Given the description of an element on the screen output the (x, y) to click on. 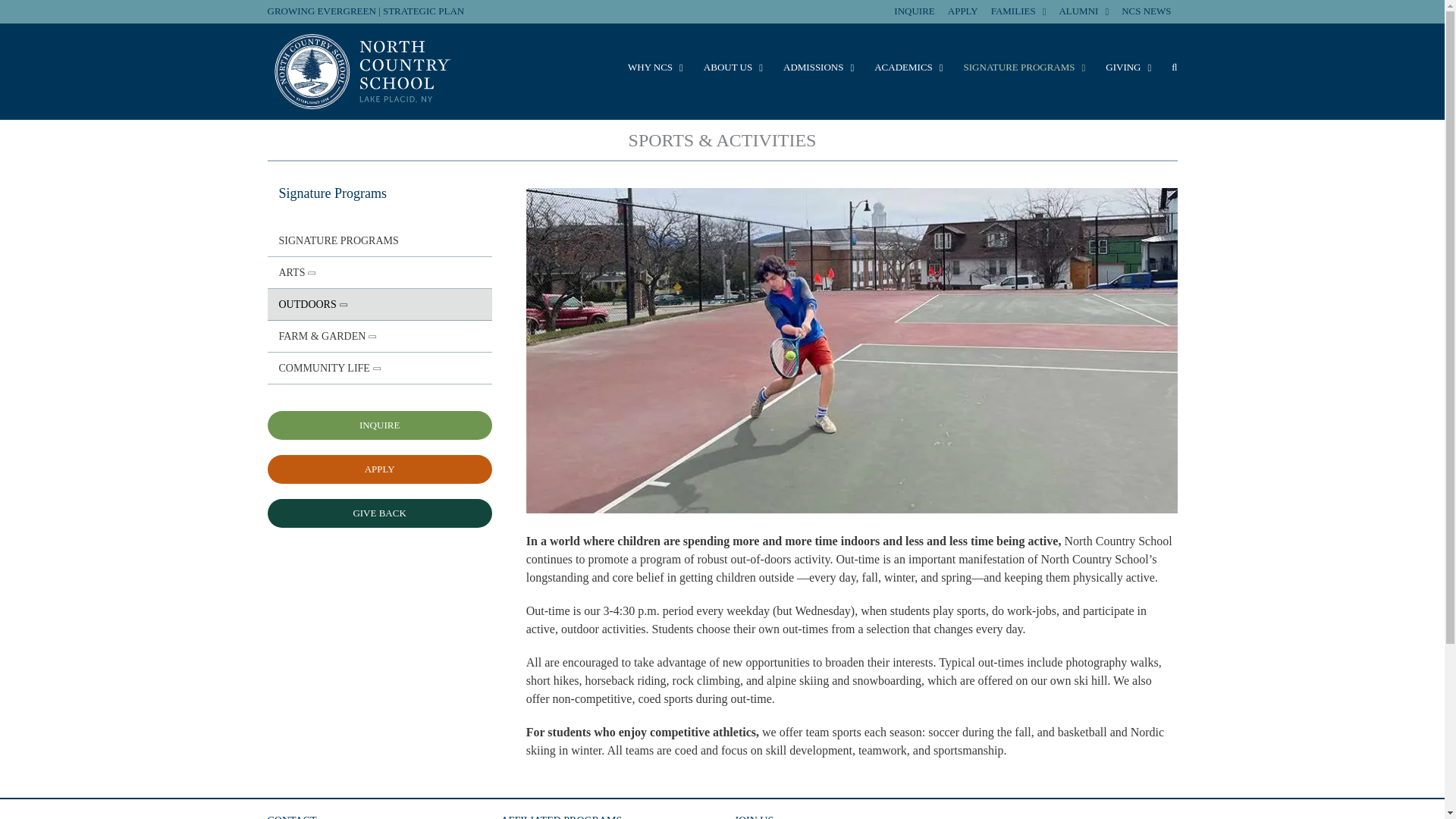
APPLY (963, 11)
ALUMNI (1083, 11)
FAMILIES (1018, 11)
ABOUT US (732, 67)
NCS NEWS (1145, 11)
WHY NCS (654, 67)
INQUIRE (914, 11)
